Given the description of an element on the screen output the (x, y) to click on. 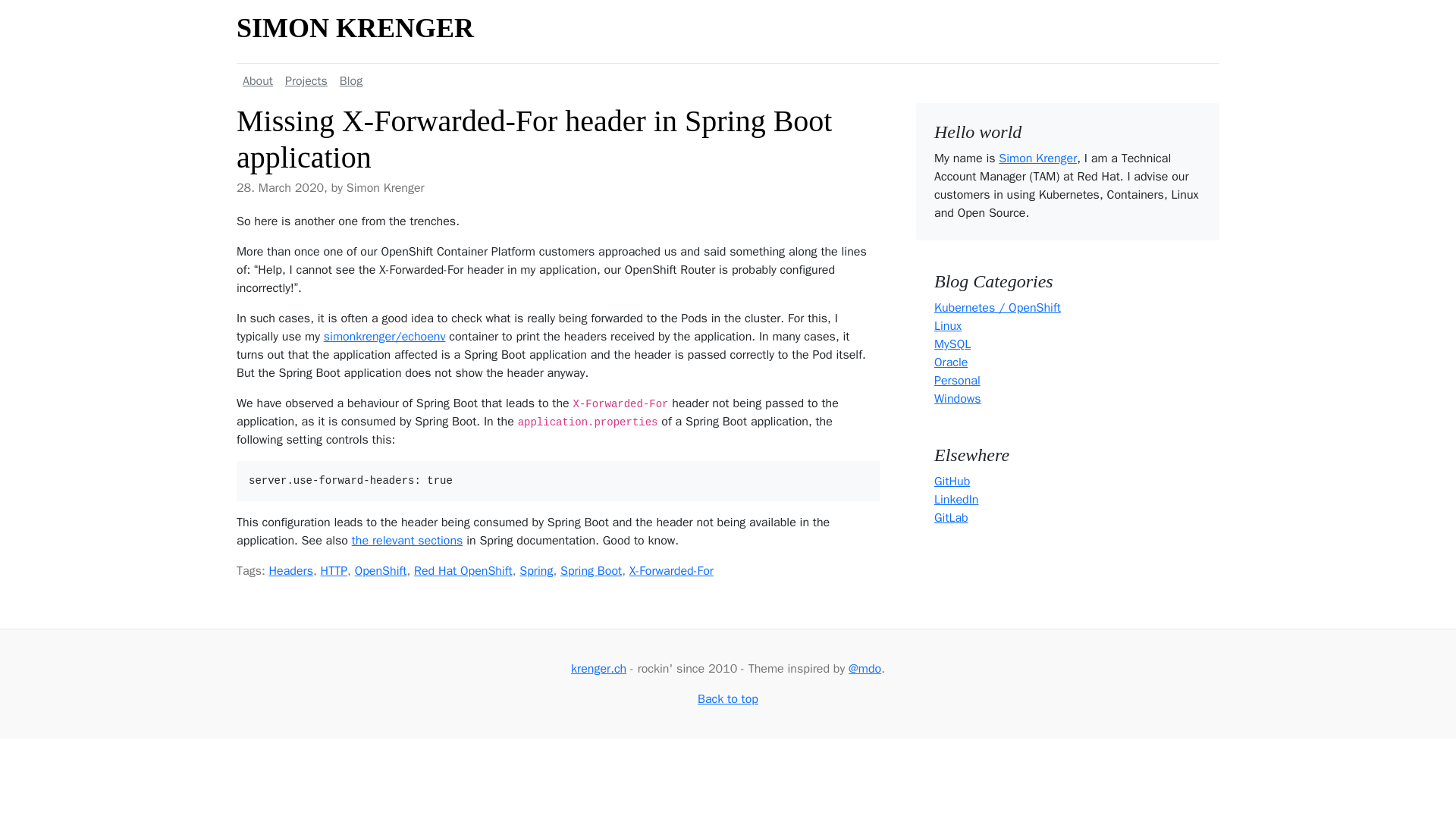
Simon Krenger (727, 80)
Missing X-Forwarded-For header in Spring Boot application (1037, 158)
the relevant sections (533, 139)
Headers (407, 540)
Personal (291, 570)
HTTP (956, 380)
Spring (333, 570)
Back to top (536, 570)
Red Hat OpenShift (727, 698)
GitHub (462, 570)
Windows (951, 481)
SIMON KRENGER (957, 398)
LinkedIn (354, 28)
Spring Boot (956, 499)
